Given the description of an element on the screen output the (x, y) to click on. 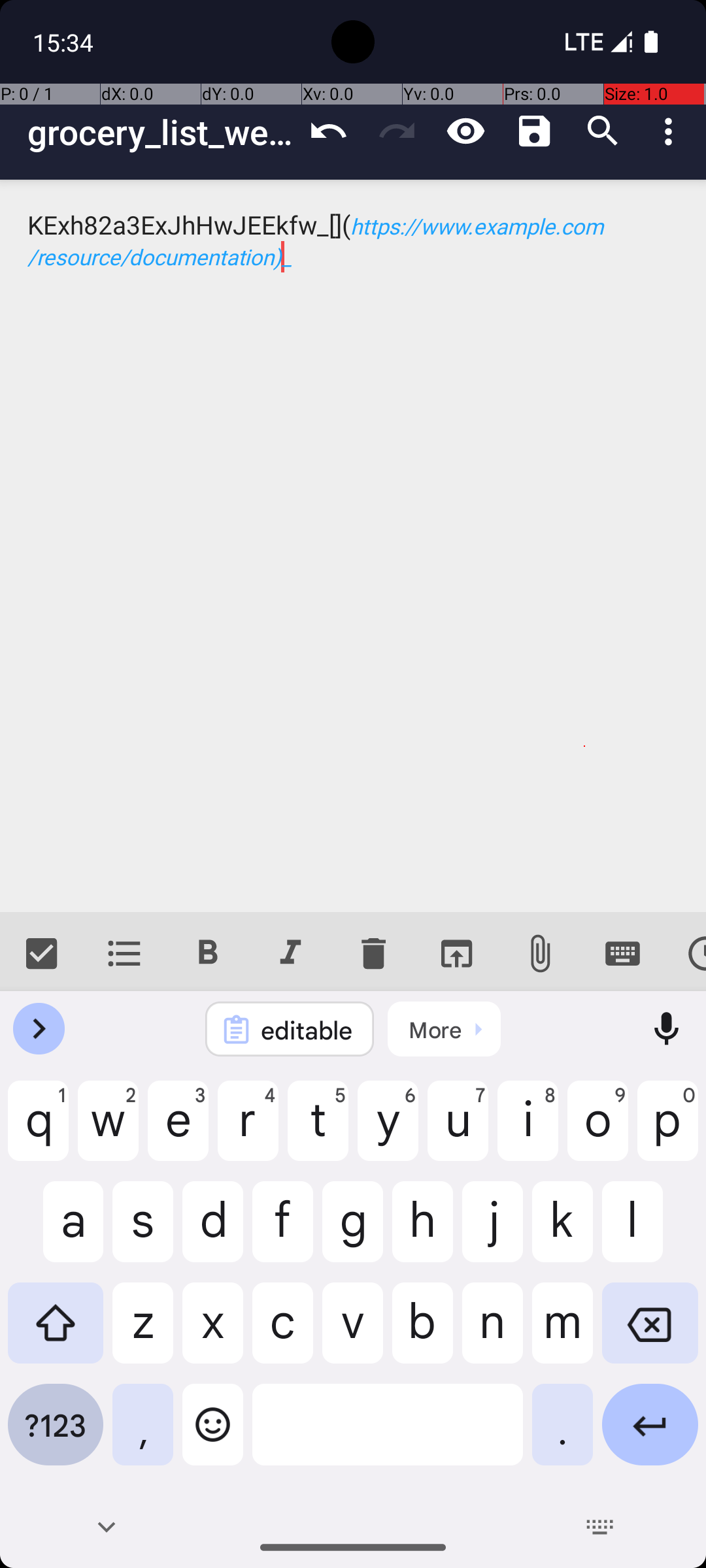
grocery_list_weekly_XyAc Element type: android.widget.TextView (160, 131)
KExh82a3ExJhHwJEEkfw_[](https://www.example.com/resource/documentation)_ Element type: android.widget.EditText (353, 545)
Check list Element type: android.widget.ImageView (41, 953)
Unordered list Element type: android.widget.ImageView (124, 953)
Bold Element type: android.widget.ImageView (207, 953)
Italic Element type: android.widget.ImageView (290, 953)
Date and time Element type: android.widget.ImageView (685, 953)
Click to open Clipboard Element type: android.view.ViewGroup (443, 1028)
editable Element type: android.widget.TextView (306, 1029)
